Given the description of an element on the screen output the (x, y) to click on. 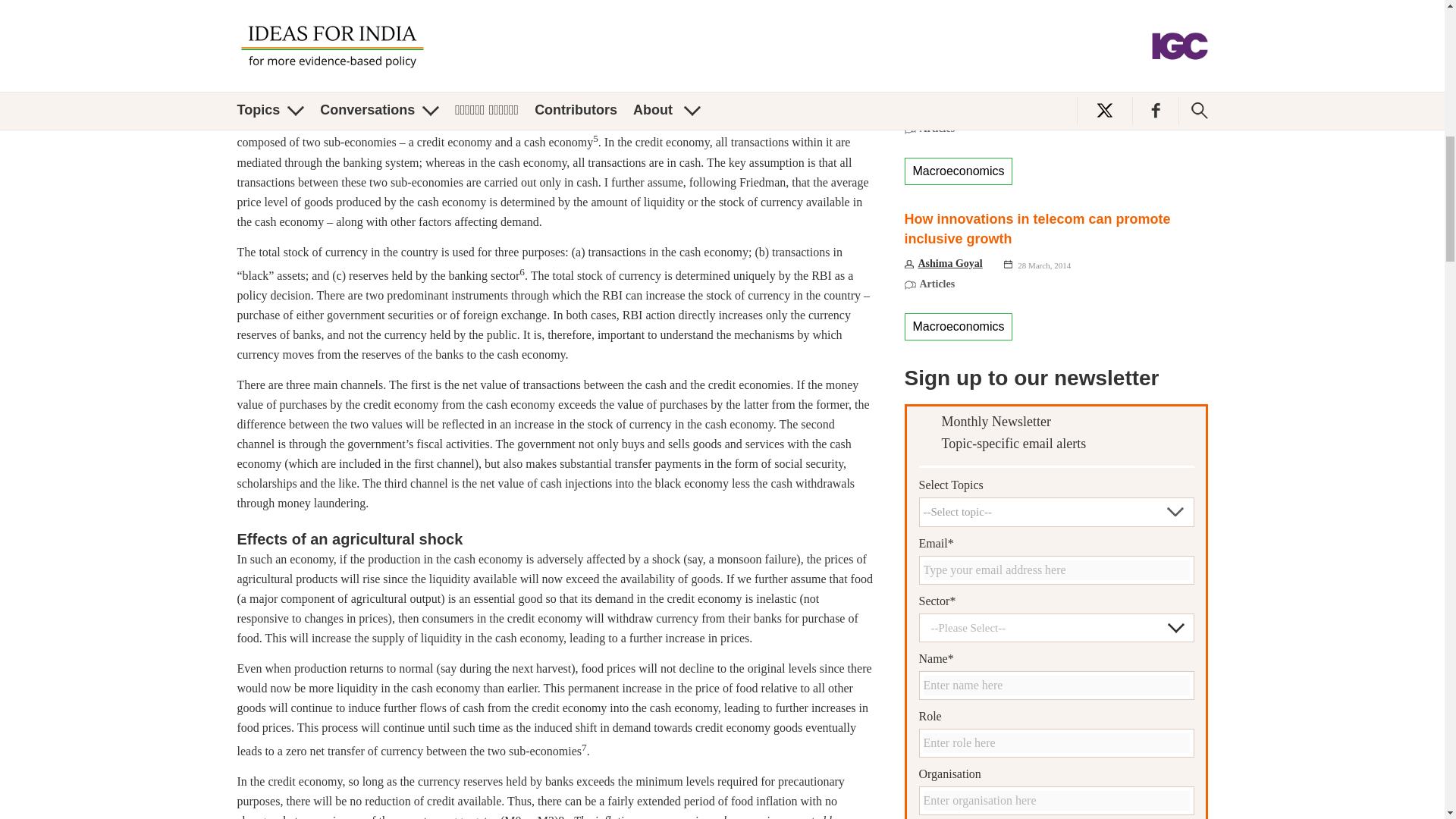
--Select topic-- (1056, 511)
